Given the description of an element on the screen output the (x, y) to click on. 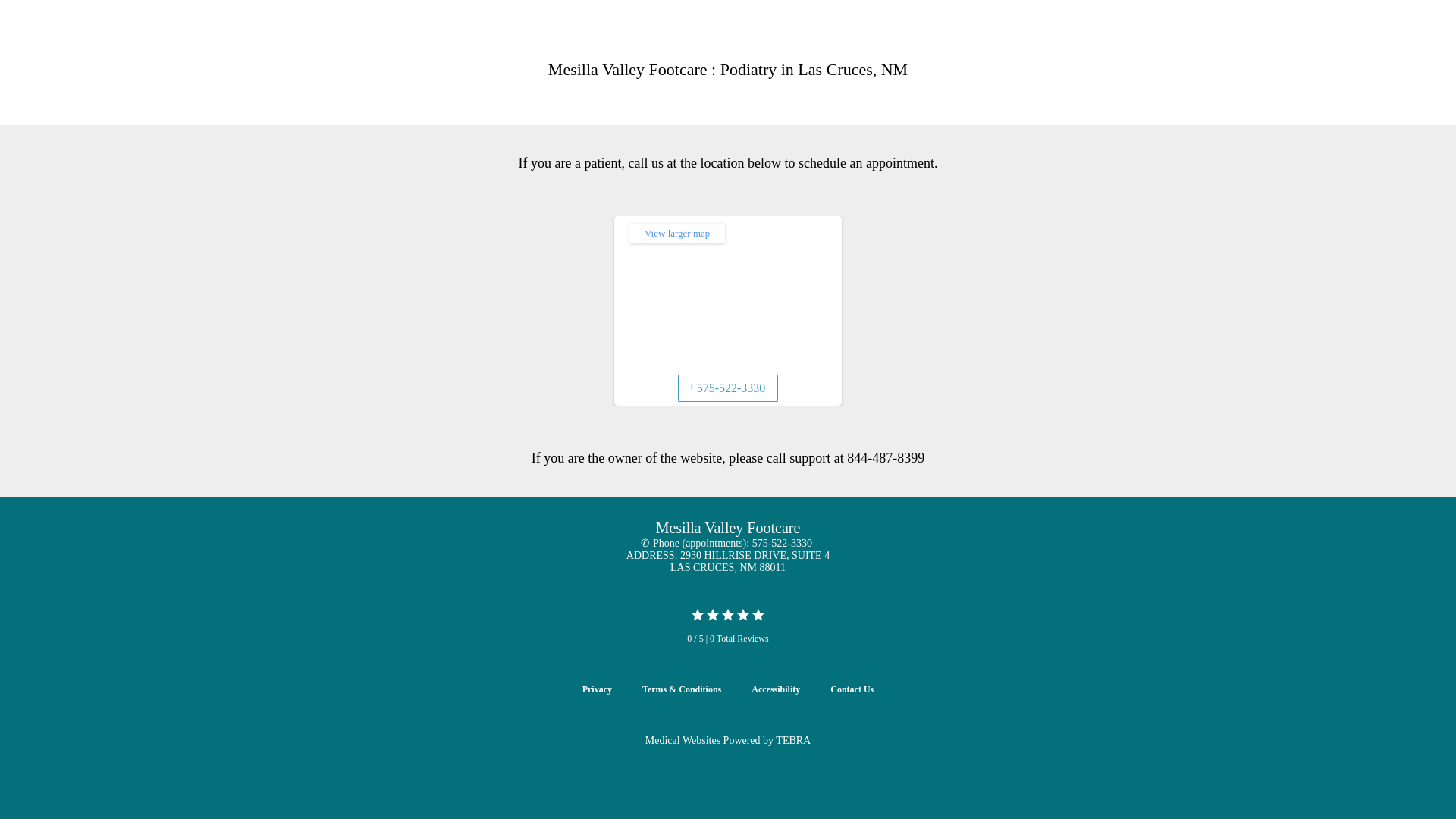
SERVICES (947, 43)
ABOUT (807, 43)
REVIEWS (1015, 43)
CONTACT (1184, 43)
BOOK ONLINE (1384, 59)
844-487-8399 (885, 458)
PATIENT FORMS (1098, 43)
Privacy (596, 688)
575-522-3330 (1276, 59)
Contact Us (851, 688)
Accessibility (775, 688)
Mesilla Valley Footcare (151, 43)
View larger map (676, 233)
TEBRA (793, 740)
PROVIDERS (873, 43)
